Given the description of an element on the screen output the (x, y) to click on. 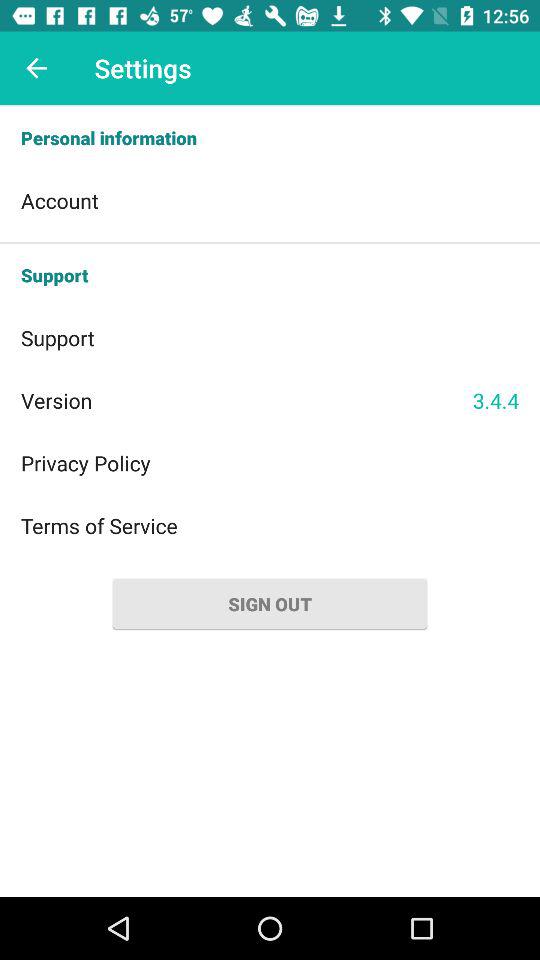
select sign out button on page (270, 603)
